Given the description of an element on the screen output the (x, y) to click on. 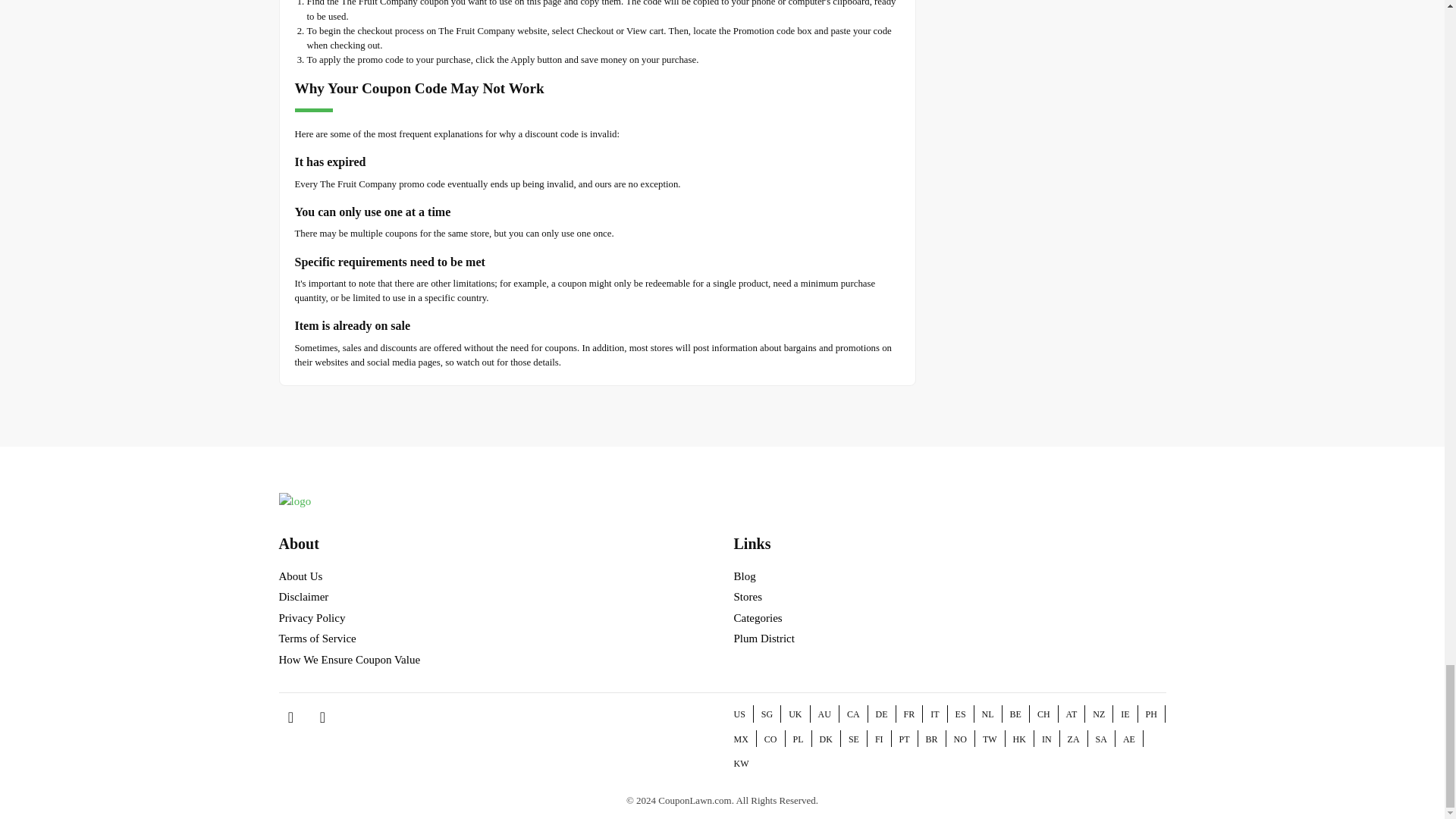
Disclaimer (304, 596)
How We Ensure Coupon Value (349, 659)
About Us (301, 576)
Terms of Service (317, 638)
Privacy Policy (312, 617)
